Given the description of an element on the screen output the (x, y) to click on. 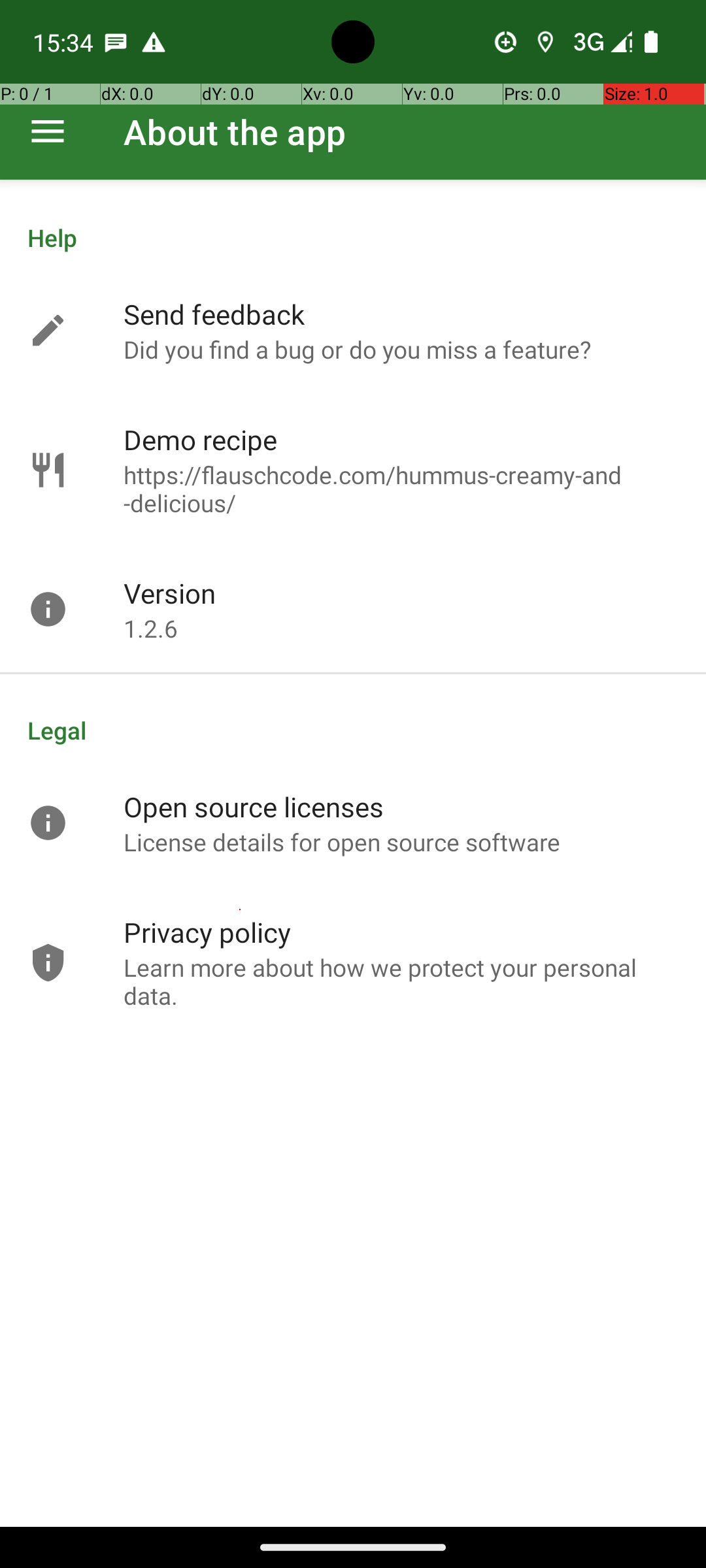
About the app Element type: android.widget.TextView (234, 131)
Send feedback Element type: android.widget.TextView (213, 313)
Did you find a bug or do you miss a feature? Element type: android.widget.TextView (356, 348)
Demo recipe Element type: android.widget.TextView (200, 438)
https://flauschcode.com/hummus-creamy-and-delicious/ Element type: android.widget.TextView (400, 488)
Version Element type: android.widget.TextView (169, 592)
1.2.6 Element type: android.widget.TextView (150, 627)
Legal Element type: android.widget.TextView (352, 729)
Open source licenses Element type: android.widget.TextView (253, 806)
License details for open source software Element type: android.widget.TextView (341, 841)
Privacy policy Element type: android.widget.TextView (206, 931)
Learn more about how we protect your personal data. Element type: android.widget.TextView (400, 981)
